Given the description of an element on the screen output the (x, y) to click on. 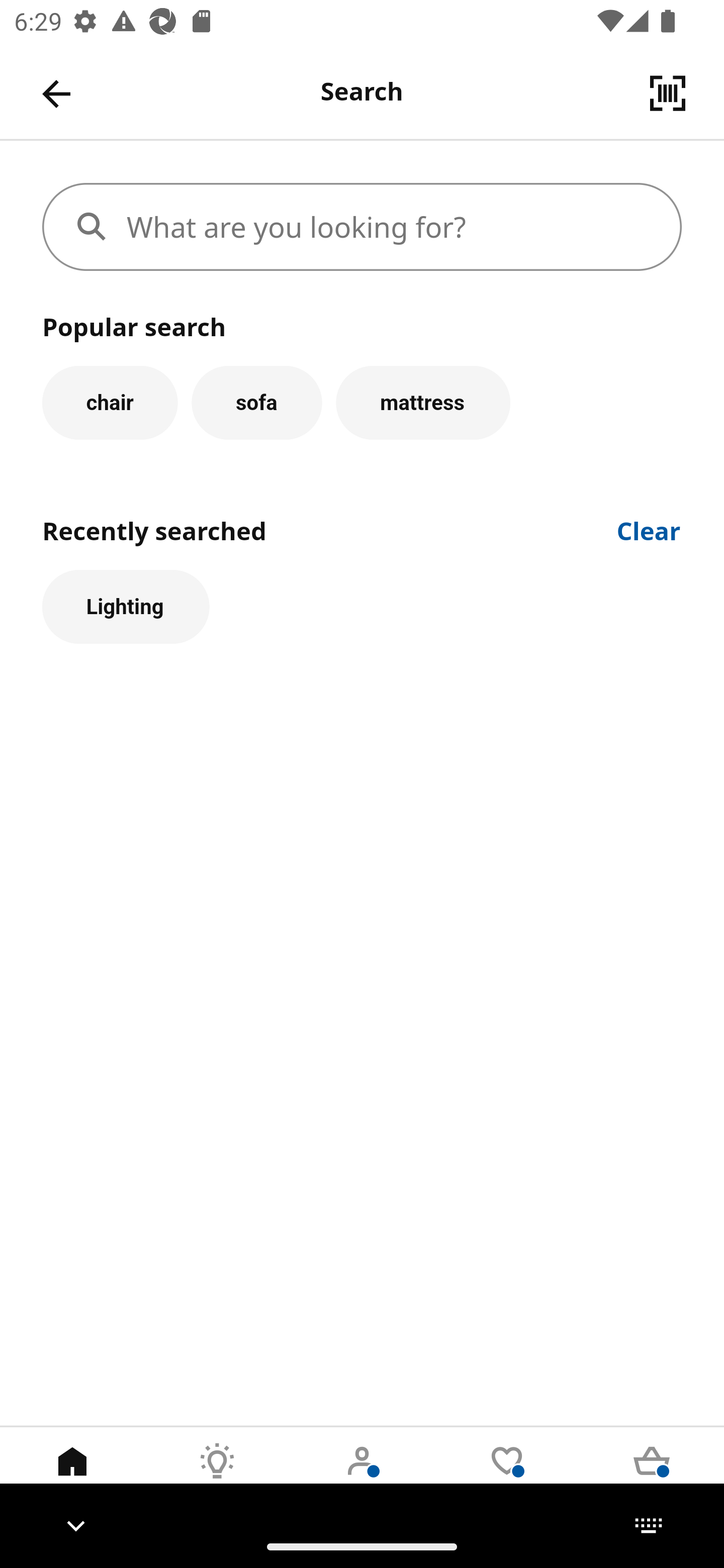
chair (109, 402)
sofa (256, 402)
mattress (423, 402)
Clear (649, 528)
Lighting (125, 606)
Home
Tab 1 of 5 (72, 1476)
Inspirations
Tab 2 of 5 (216, 1476)
User
Tab 3 of 5 (361, 1476)
Wishlist
Tab 4 of 5 (506, 1476)
Cart
Tab 5 of 5 (651, 1476)
